Given the description of an element on the screen output the (x, y) to click on. 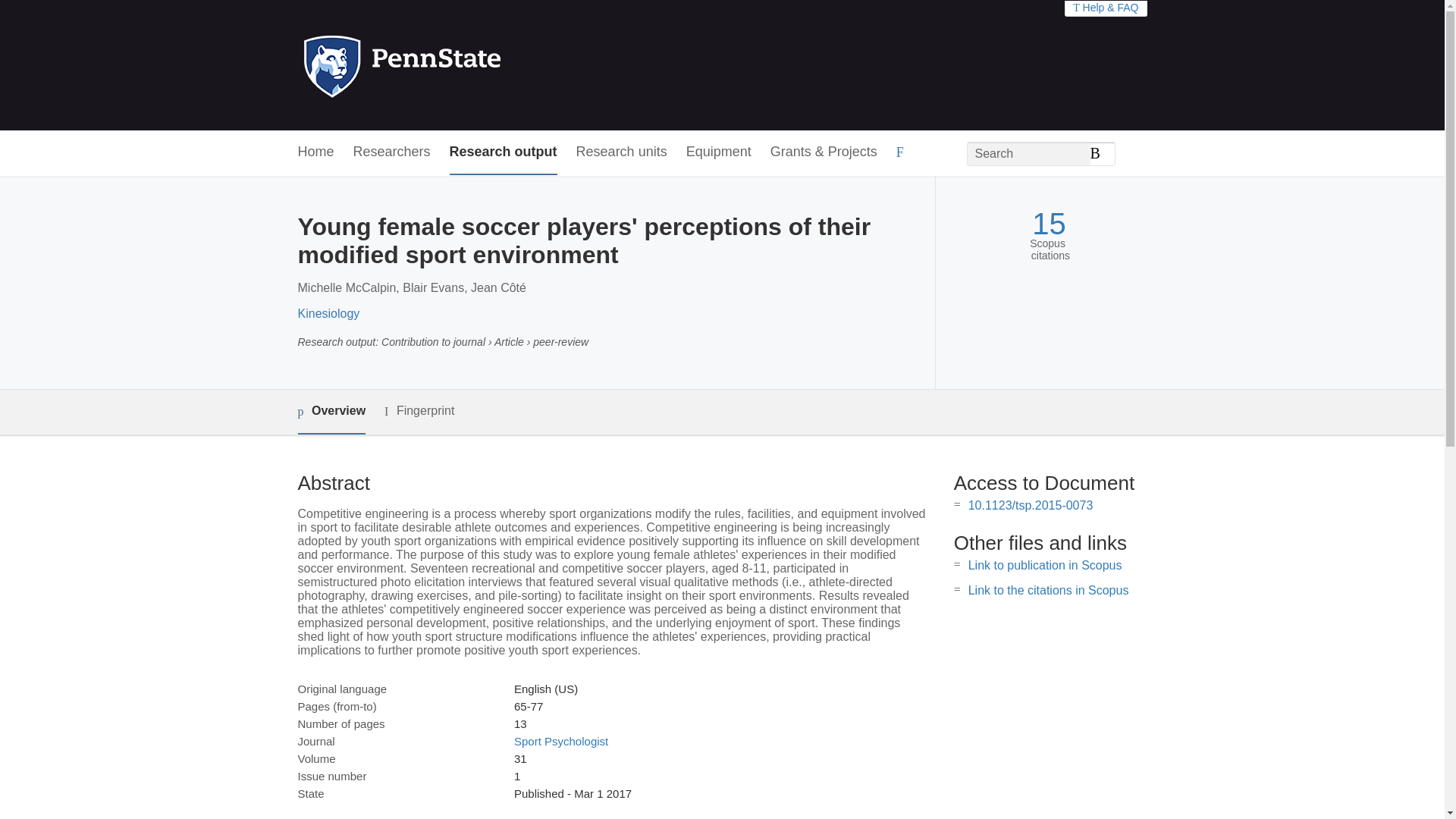
Kinesiology (328, 313)
Home (315, 152)
Overview (331, 411)
15 (1048, 223)
Penn State Home (467, 65)
Researchers (391, 152)
Link to publication in Scopus (1045, 564)
Equipment (718, 152)
Research output (503, 152)
Sport Psychologist (560, 740)
Fingerprint (419, 411)
Link to the citations in Scopus (1048, 590)
Research units (621, 152)
